Given the description of an element on the screen output the (x, y) to click on. 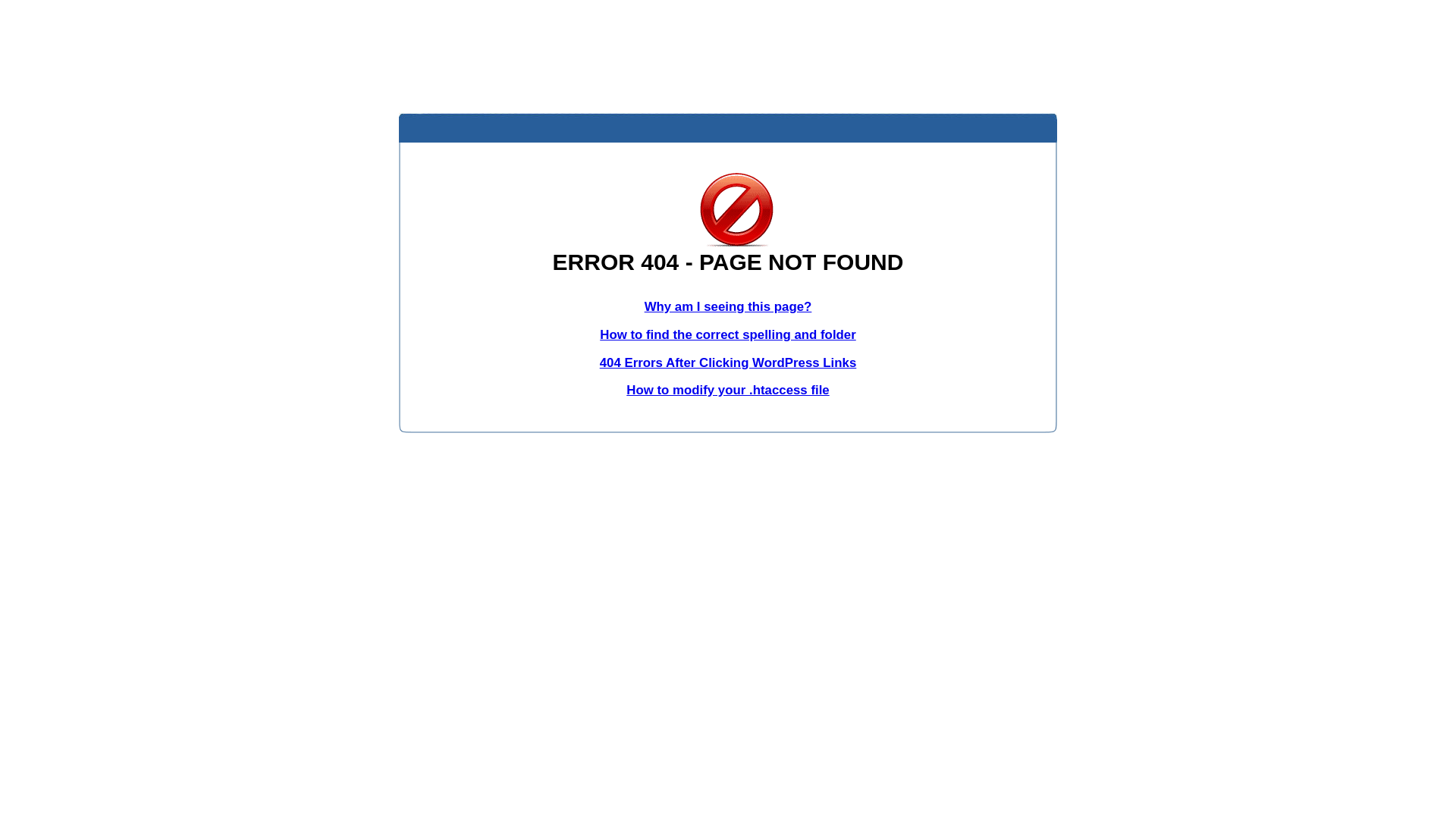
How to find the correct spelling and folder Element type: text (727, 334)
Why am I seeing this page? Element type: text (728, 306)
404 Errors After Clicking WordPress Links Element type: text (727, 362)
How to modify your .htaccess file Element type: text (727, 389)
